Given the description of an element on the screen output the (x, y) to click on. 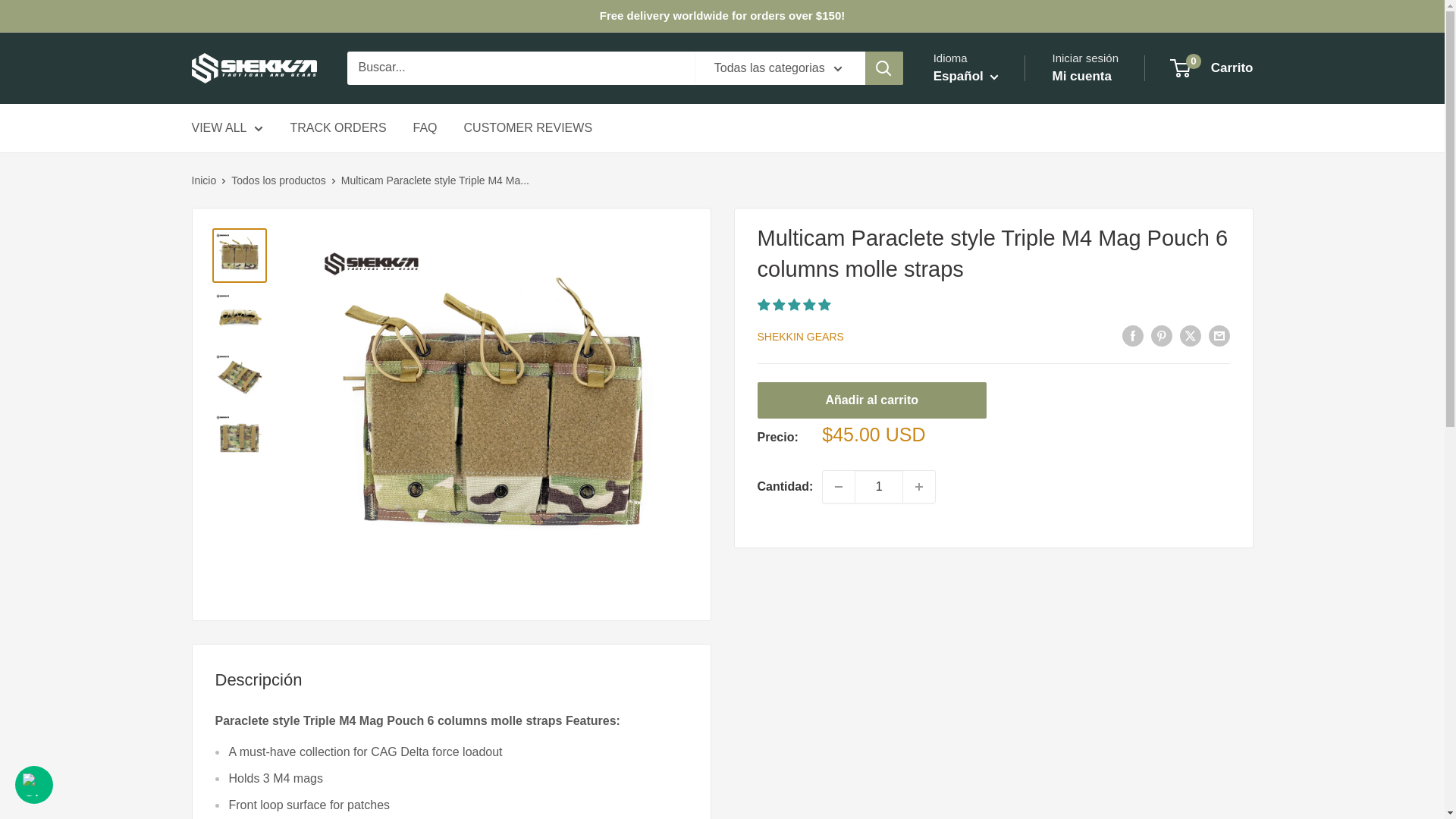
Aumentar la cantidad en 1 (918, 486)
1 (878, 486)
Disminuir la cantidad en 1 (838, 486)
